Given the description of an element on the screen output the (x, y) to click on. 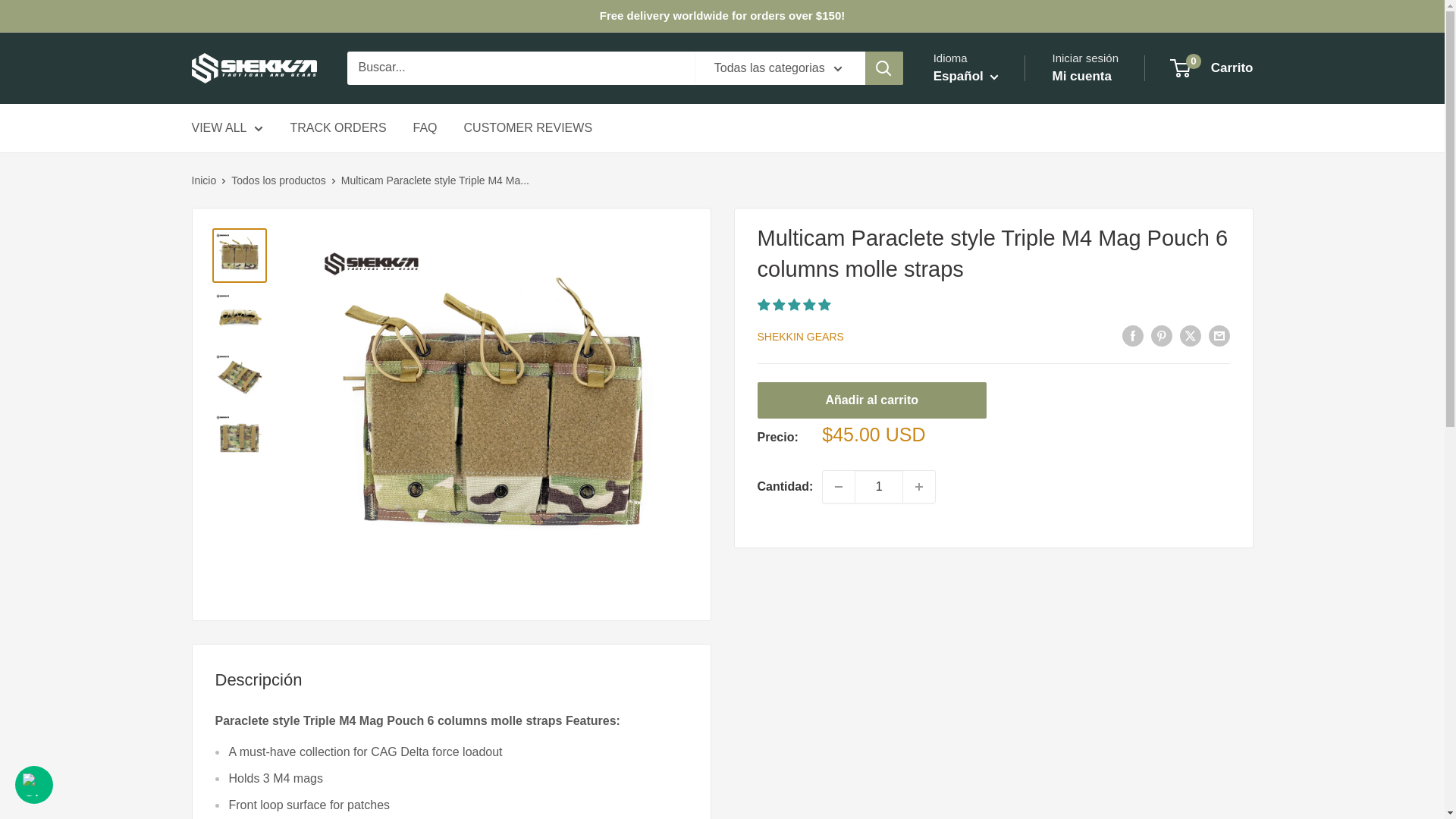
Aumentar la cantidad en 1 (918, 486)
1 (878, 486)
Disminuir la cantidad en 1 (838, 486)
